Given the description of an element on the screen output the (x, y) to click on. 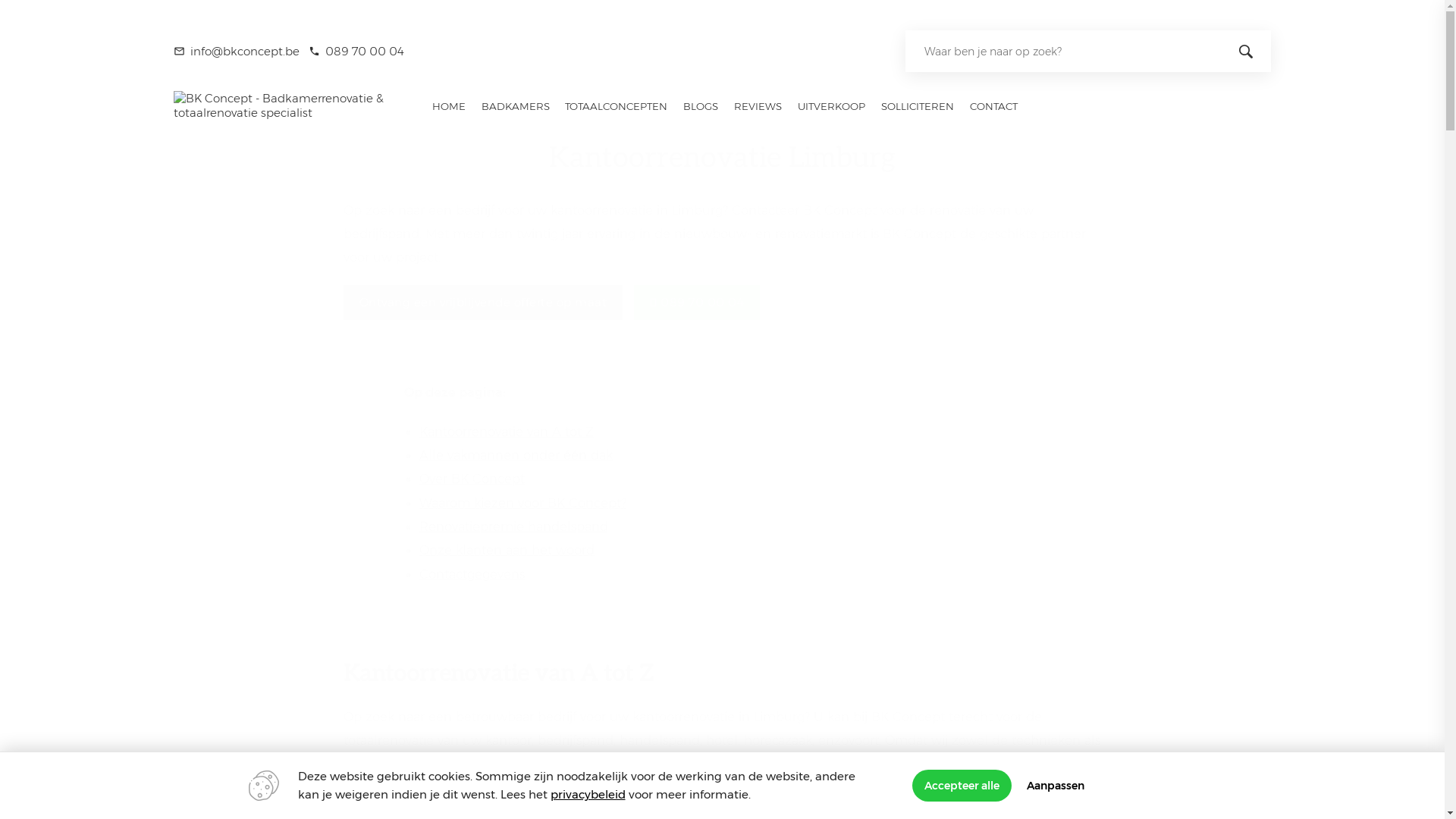
CONTACT Element type: text (993, 106)
SOLLICITEREN Element type: text (917, 106)
Over BK Concept Element type: text (471, 478)
Renovatiepremie handelspand Element type: text (512, 526)
UITVERKOOP Element type: text (831, 106)
BK Concept - Badkamerrenovatie & totaalrenovatie specialist Element type: hover (287, 112)
Accepteer alle Element type: text (960, 785)
mail_outline
info@bkconcept.be Element type: text (236, 51)
Ontvang een vrijblijvende offerte op maat Element type: text (482, 302)
privacybeleid Element type: text (587, 794)
HOME Element type: text (448, 106)
Contactgegevens Element type: text (471, 574)
phone
089 70 00 04 Element type: text (356, 51)
Aanpassen Element type: text (1055, 785)
REVIEWS Element type: text (758, 106)
Kantoorrenovatie van A tot Z Element type: text (505, 431)
Waarom kiezen voor BK Concept? Element type: text (521, 502)
Onze klanten aan het woord Element type: text (505, 549)
BLOGS Element type: text (700, 106)
